Given the description of an element on the screen output the (x, y) to click on. 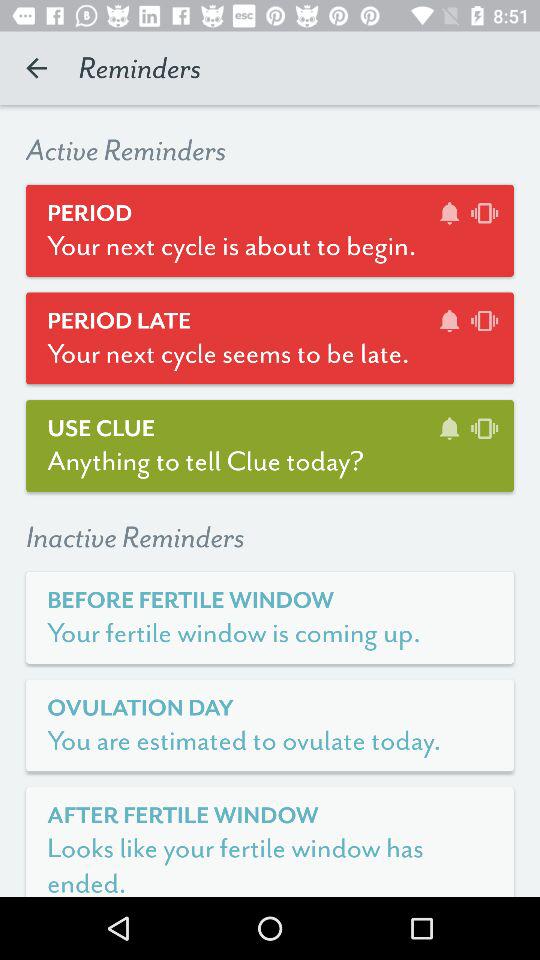
select icon to the left of reminders icon (36, 68)
